Given the description of an element on the screen output the (x, y) to click on. 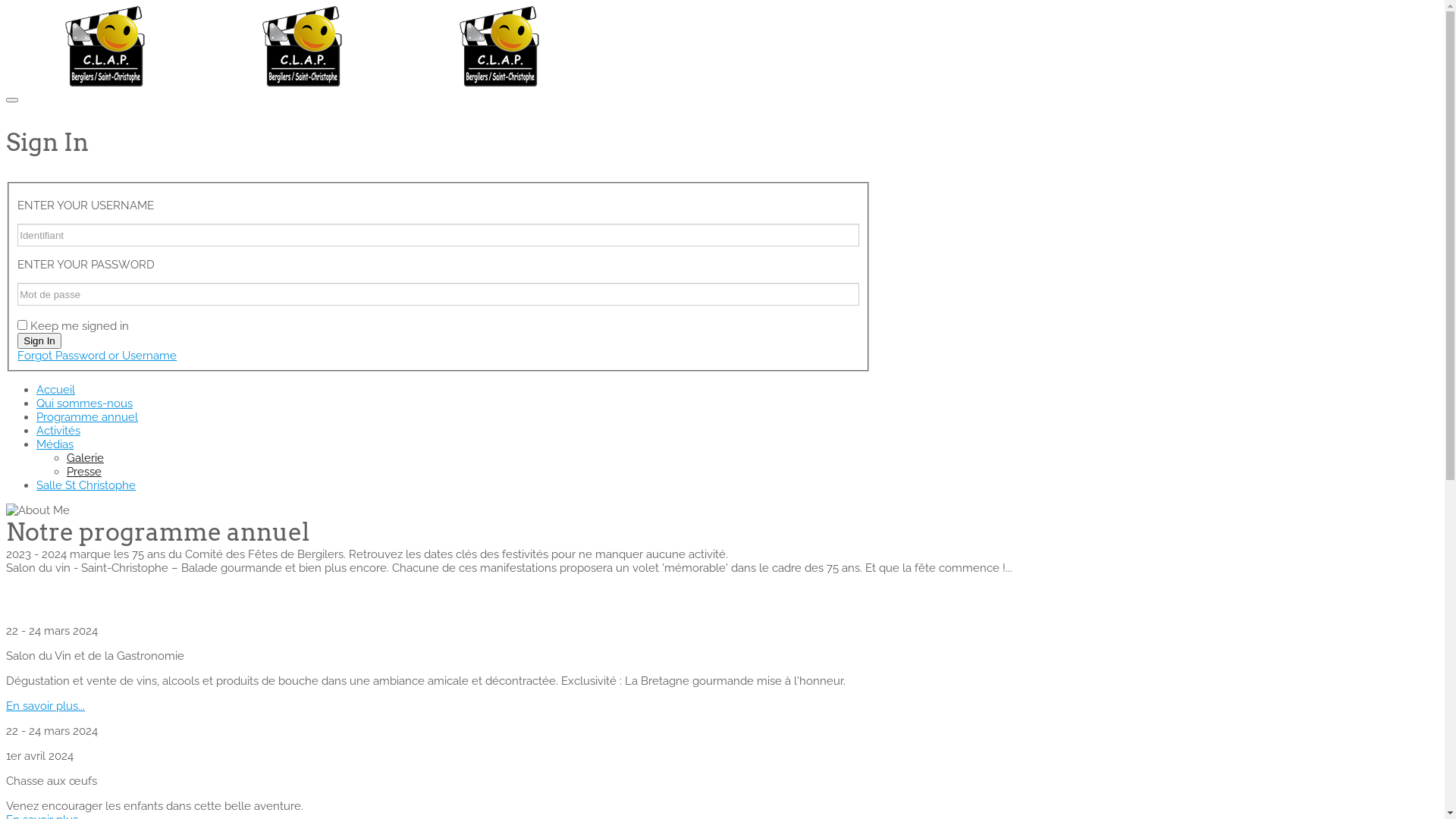
Presse Element type: text (83, 471)
Galerie Element type: text (84, 457)
En savoir plus... Element type: text (45, 705)
Qui sommes-nous Element type: text (84, 403)
Sign In Element type: text (39, 340)
Forgot Password or Username Element type: text (96, 355)
Salle St Christophe Element type: text (85, 485)
Accueil Element type: text (55, 389)
Programme annuel Element type: text (87, 416)
